Given the description of an element on the screen output the (x, y) to click on. 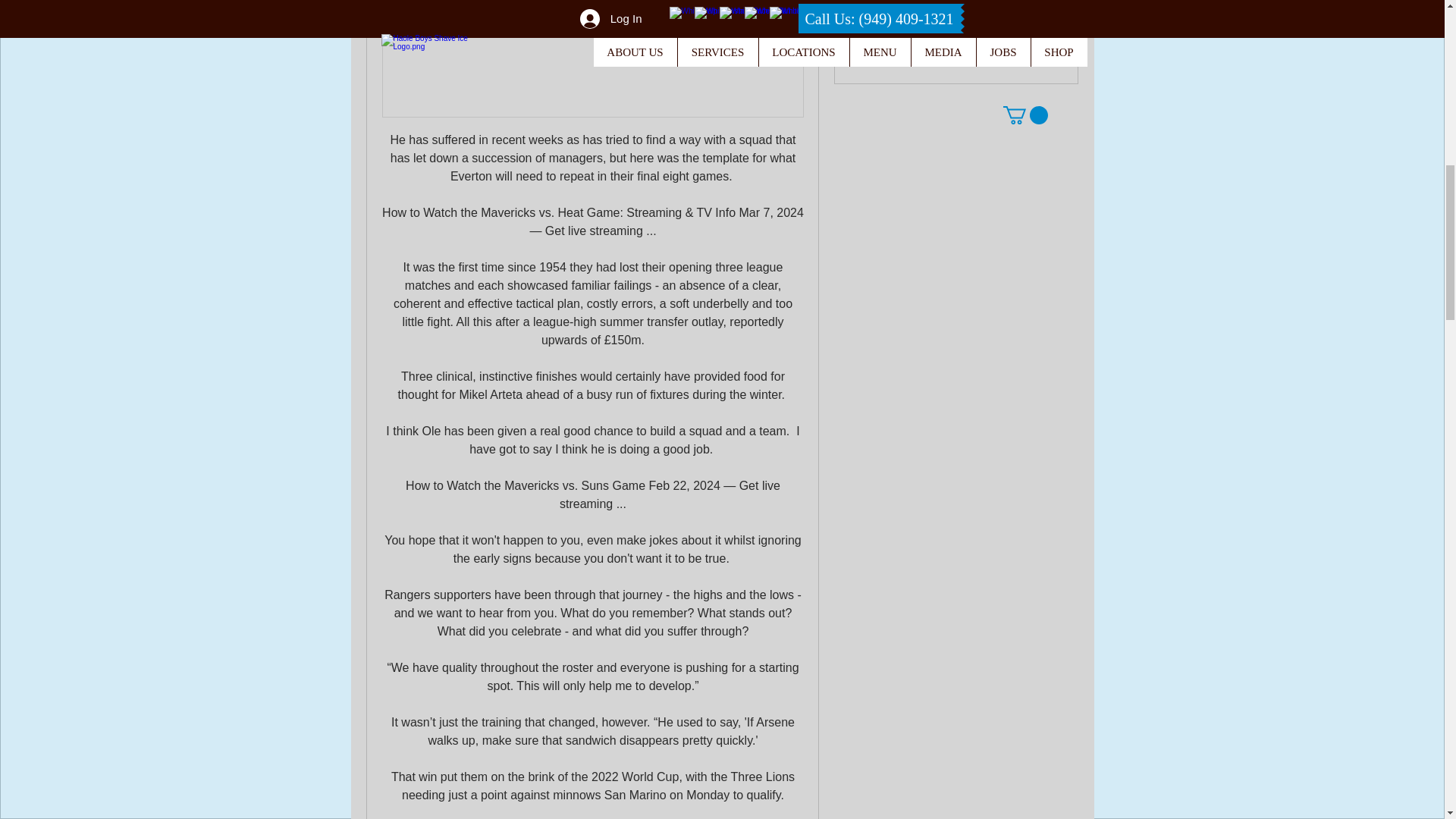
Nguyen Nguyen (863, 21)
